Given the description of an element on the screen output the (x, y) to click on. 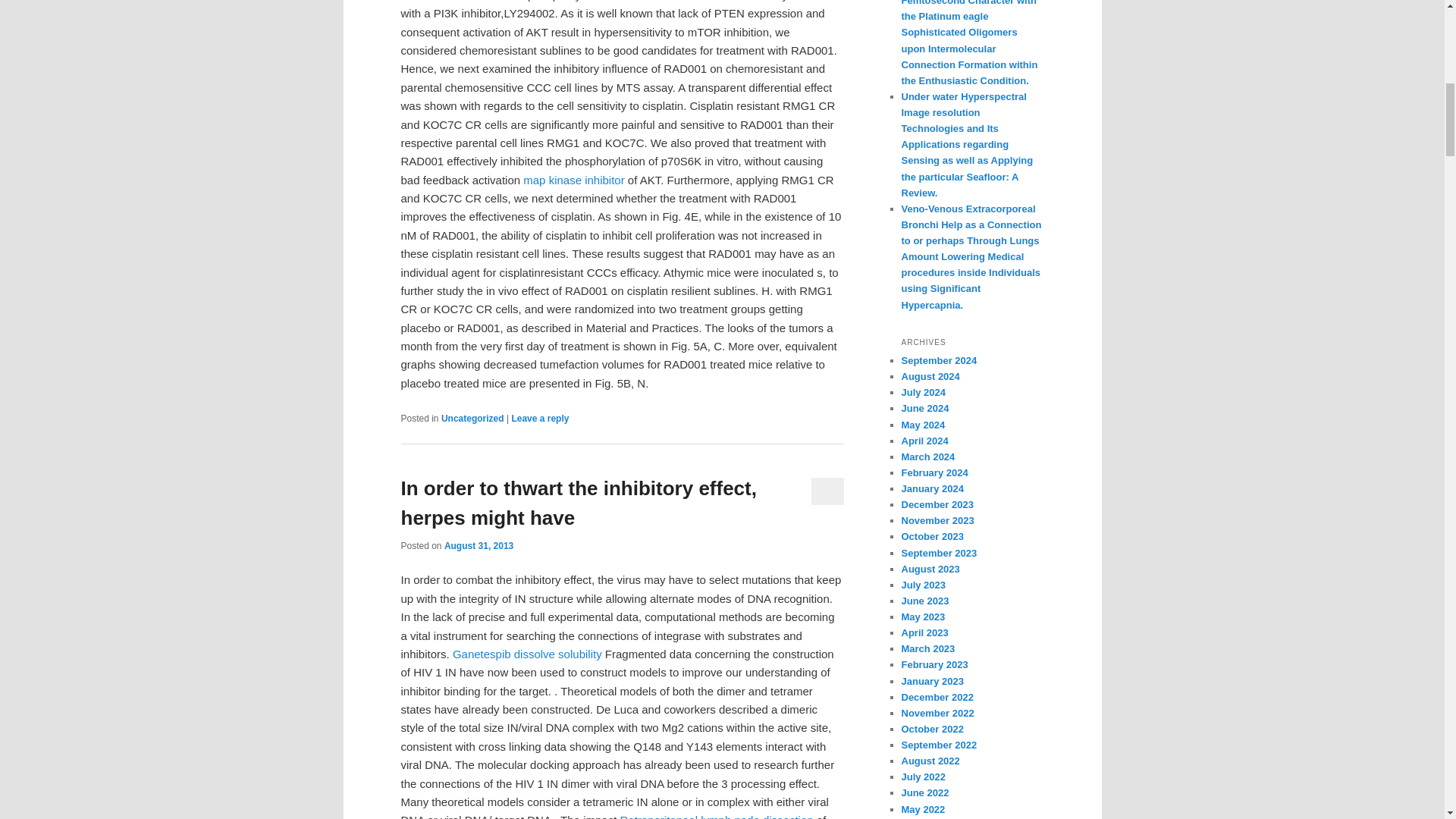
1:33 am (478, 545)
Ganetespib dissolve solubility (527, 653)
Uncategorized (472, 418)
August 31, 2013 (478, 545)
Leave a reply (540, 418)
View all posts in Uncategorized (472, 418)
In order to thwart the inhibitory effect, herpes might have (577, 502)
Retroperitoneal lymph node dissection (716, 816)
